Given the description of an element on the screen output the (x, y) to click on. 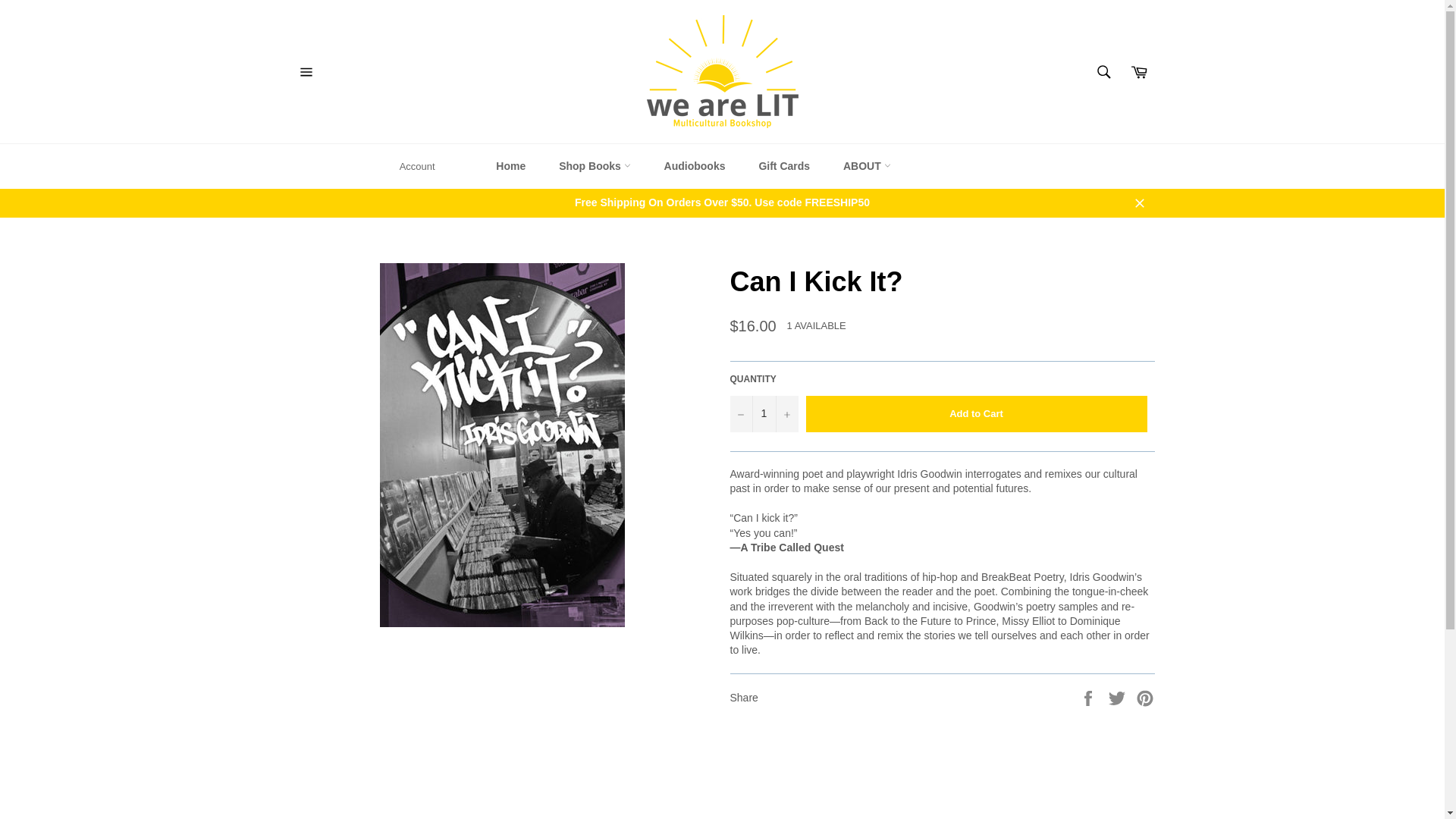
Home (510, 166)
Gift Cards (783, 166)
Shop Books (594, 166)
Search (1103, 71)
Cart (1138, 71)
Tweet on Twitter (1118, 696)
Pin on Pinterest (1144, 696)
Share on Facebook (1089, 696)
ABOUT (866, 166)
1 (763, 413)
